Given the description of an element on the screen output the (x, y) to click on. 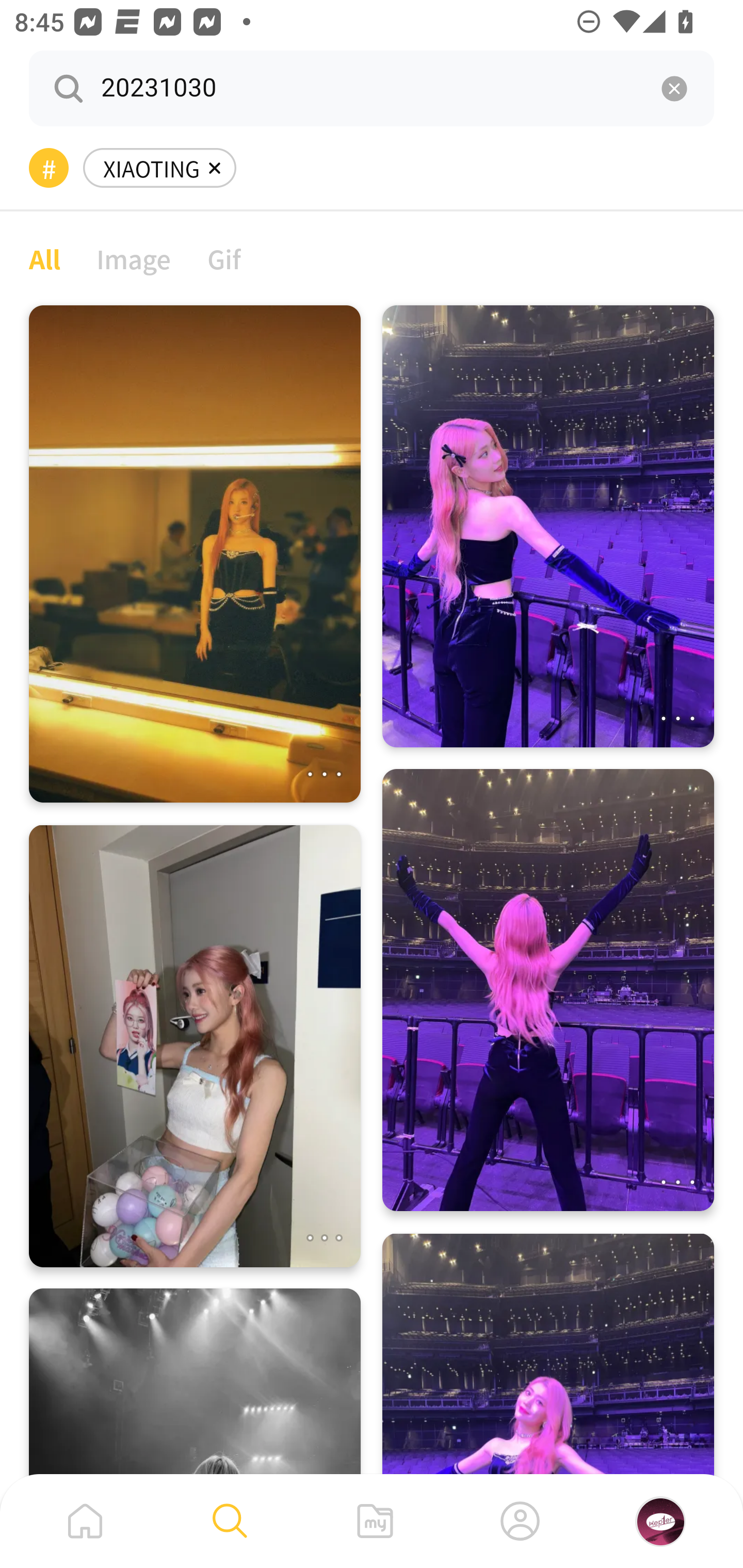
All (44, 257)
Image (133, 257)
Gif (223, 257)
